Given the description of an element on the screen output the (x, y) to click on. 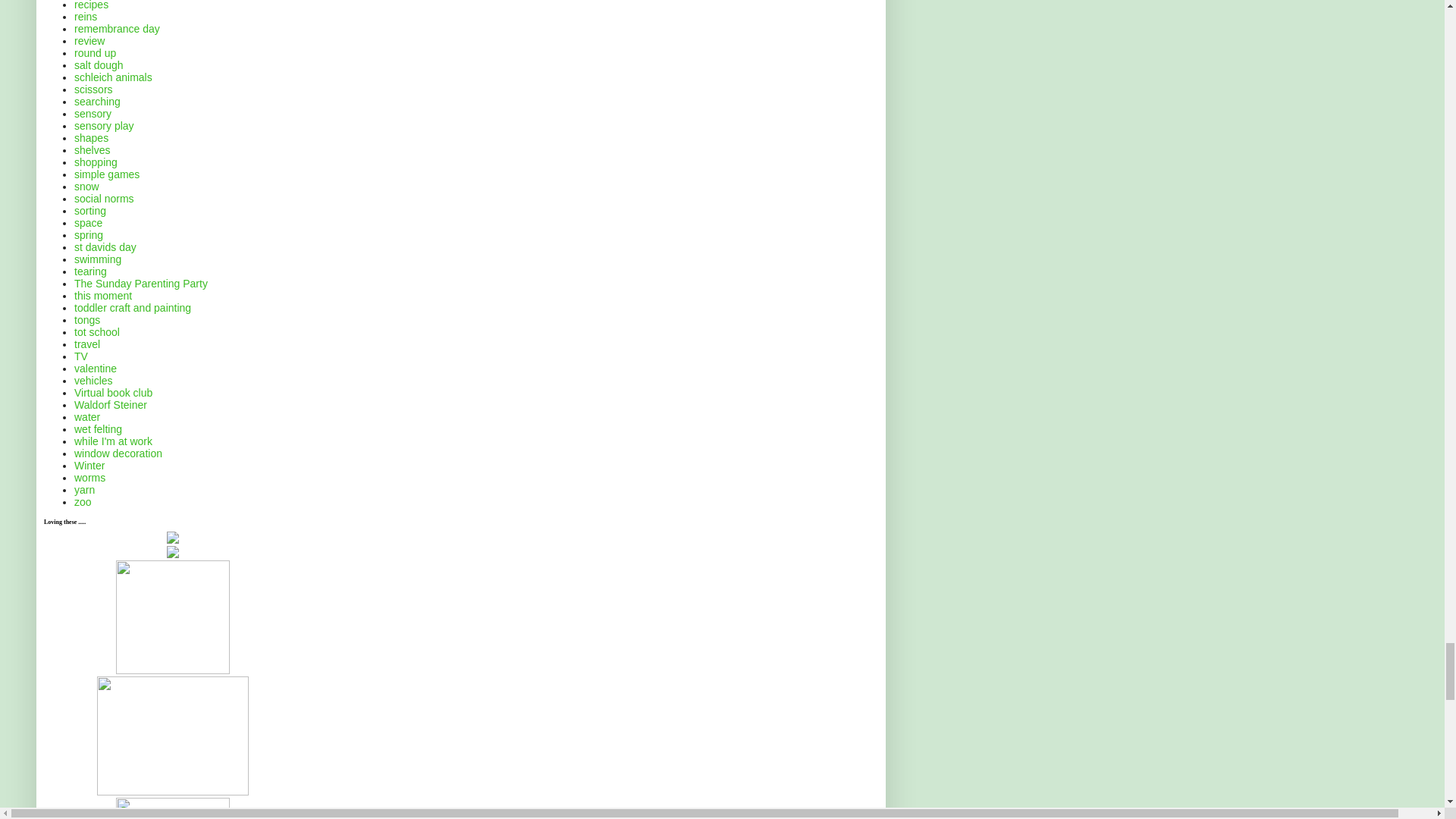
Proud Member of the Kid Blogger Network (173, 670)
